Given the description of an element on the screen output the (x, y) to click on. 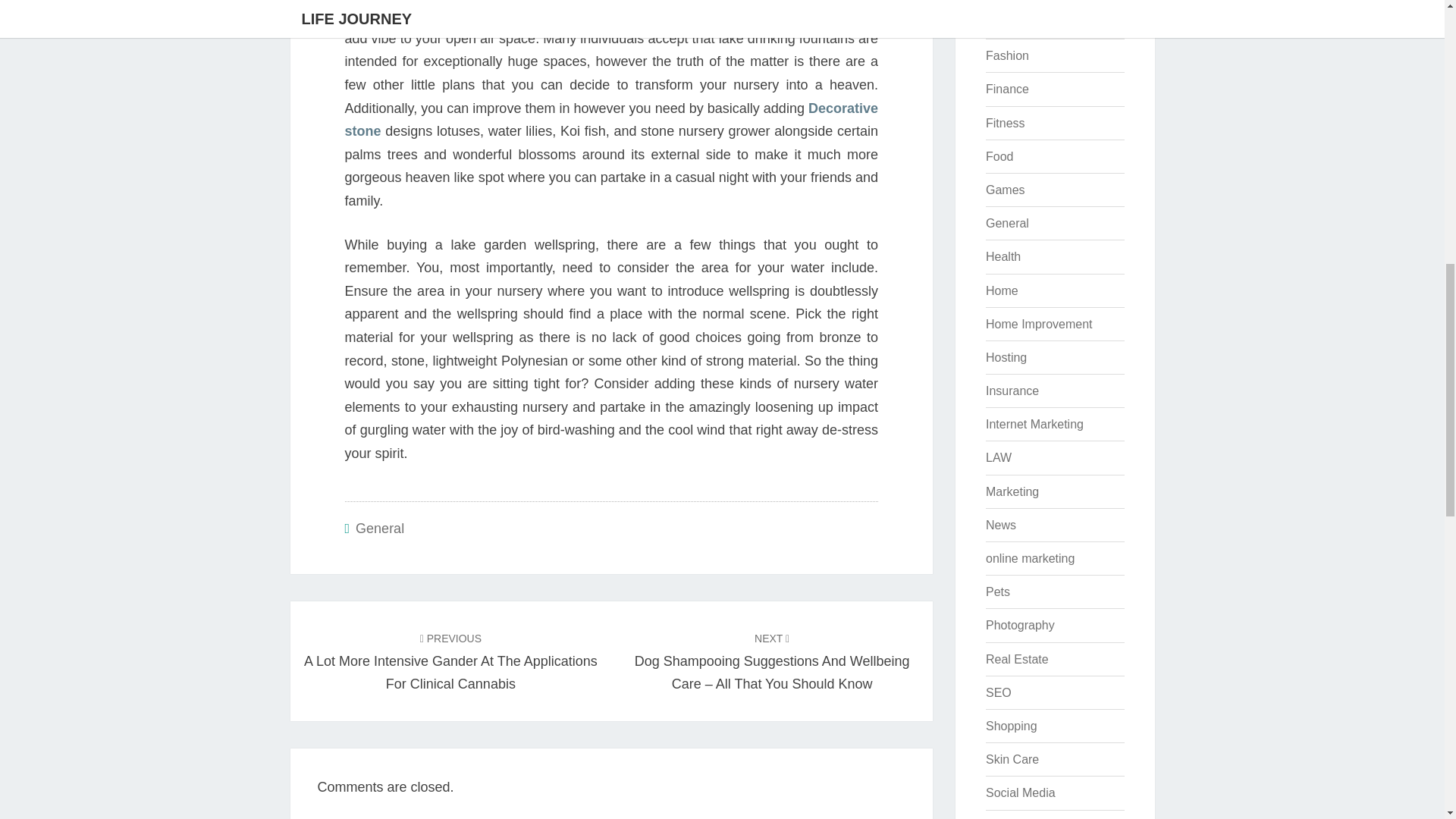
Health (1002, 256)
Insurance (1012, 390)
Internet Marketing (1034, 423)
Fitness (1005, 123)
General (379, 528)
Finance (1007, 88)
LAW (998, 457)
Decorative stone (610, 119)
Fashion (1007, 55)
Home (1001, 290)
